Given the description of an element on the screen output the (x, y) to click on. 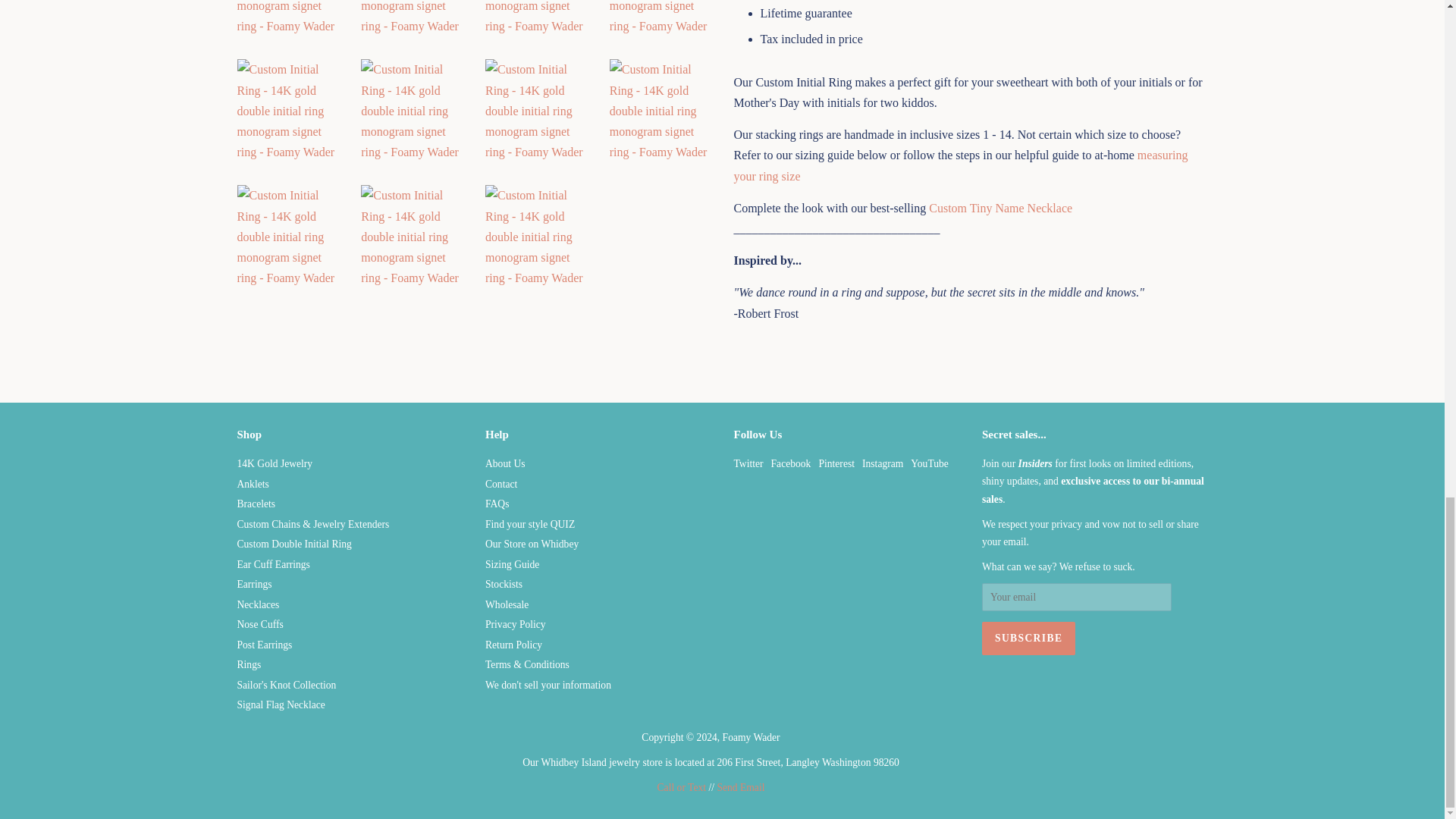
Foamy Wader on Twitter (747, 463)
Subscribe (1028, 638)
Foamy Wader on Pinterest (836, 463)
Foamy Wader on YouTube (930, 463)
how to guide to find your ring size from Foamy Wader (960, 164)
Foamy Wader on Instagram (881, 463)
Foamy Wader on Facebook (790, 463)
